Given the description of an element on the screen output the (x, y) to click on. 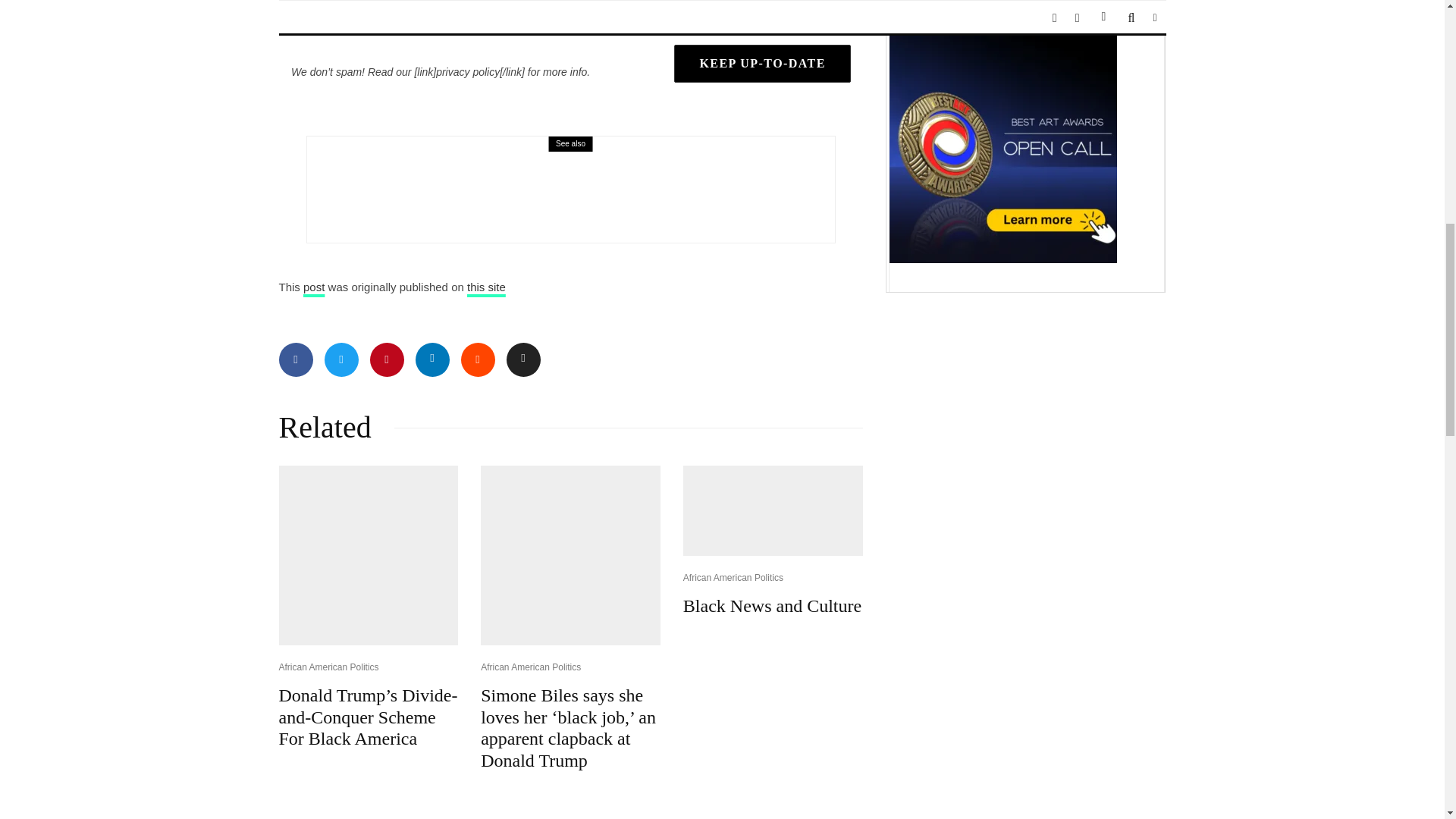
Email Address (761, 14)
Keep Up-to-date (761, 63)
Keep Up-to-date (761, 63)
this site (486, 286)
post (313, 286)
